Given the description of an element on the screen output the (x, y) to click on. 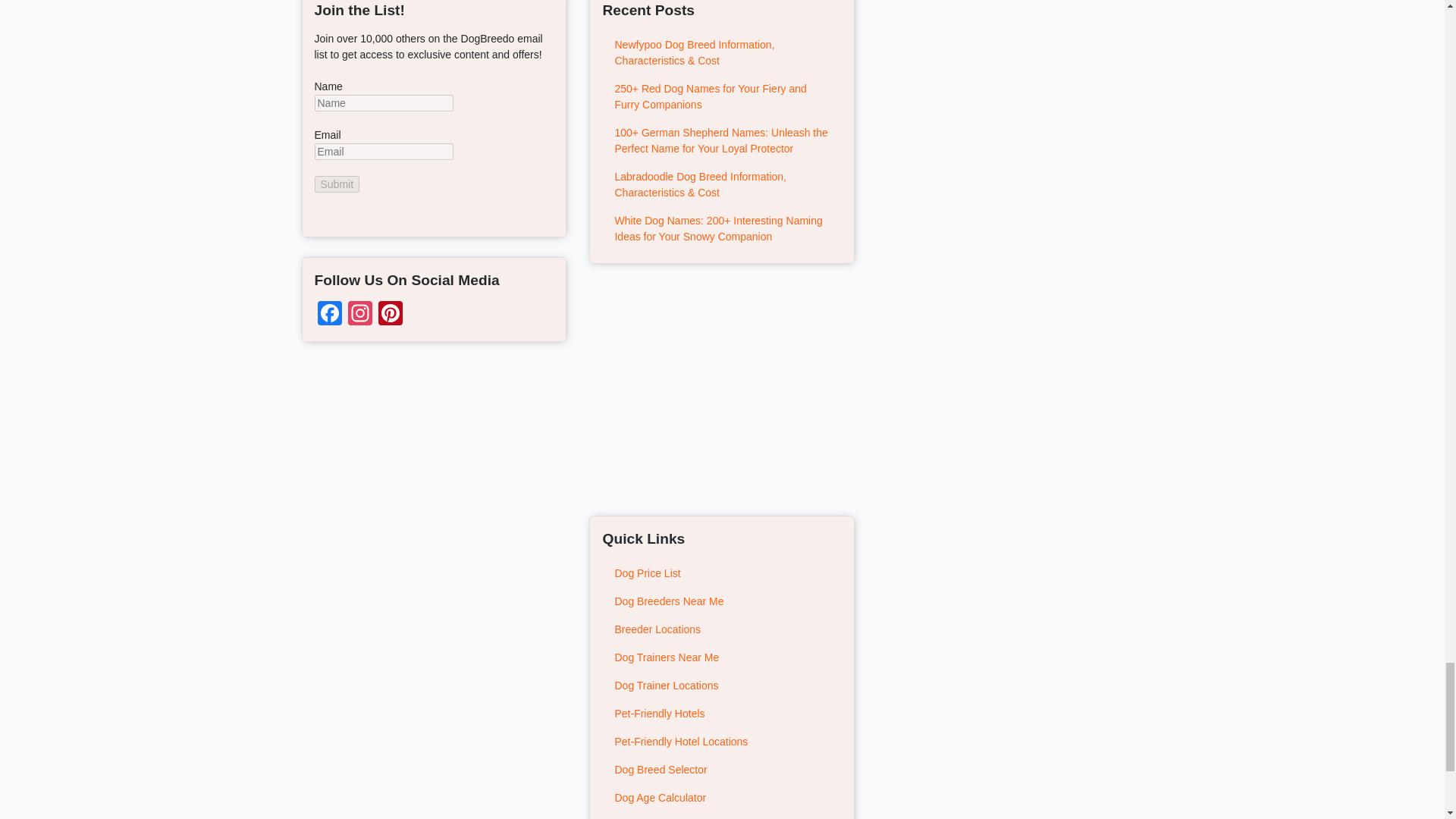
Submit (336, 184)
